Given the description of an element on the screen output the (x, y) to click on. 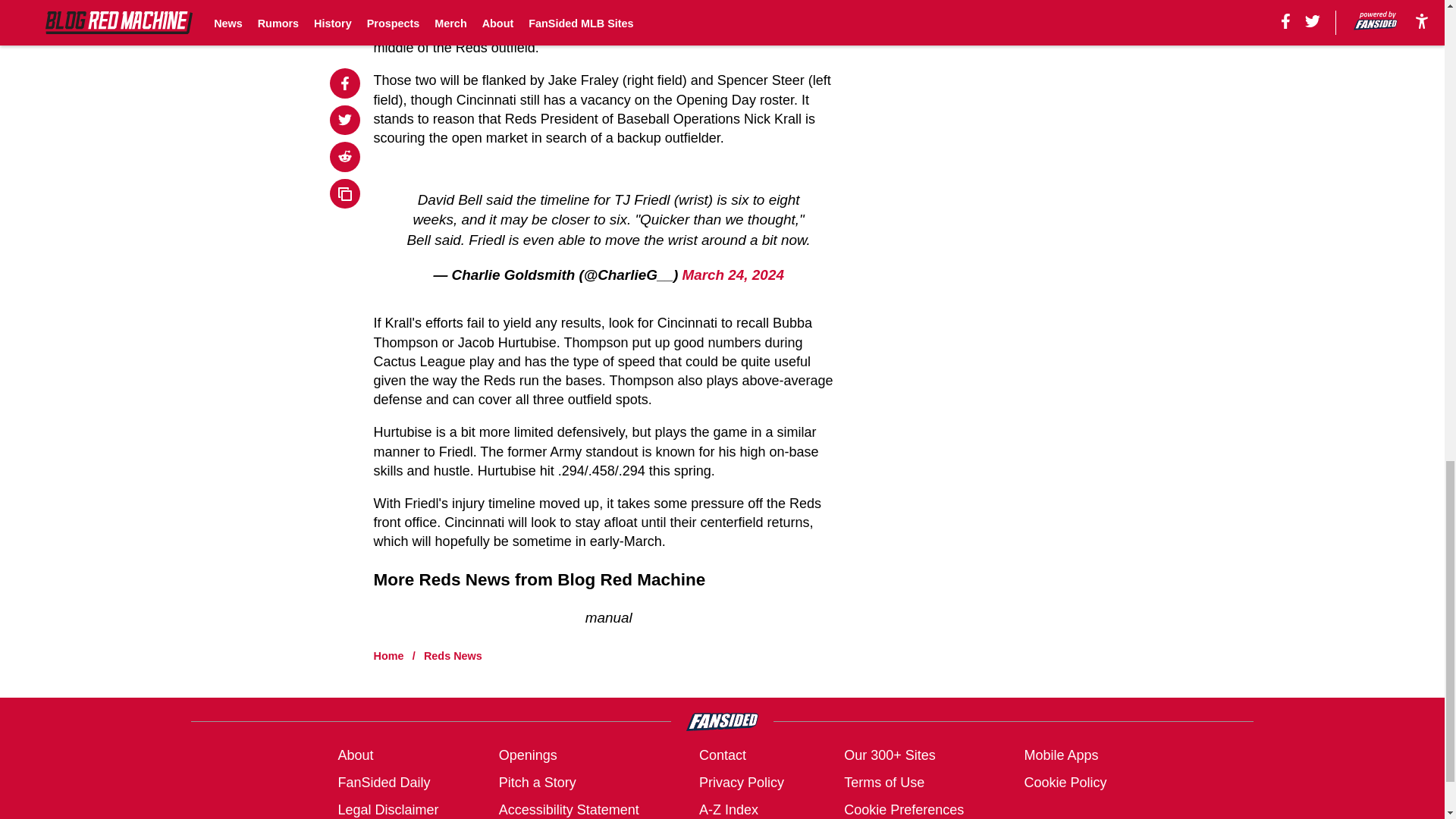
March 24, 2024 (732, 274)
About (354, 754)
Home (389, 655)
Openings (528, 754)
Reds News (452, 655)
Will Benson and Stuart Fairchild in center field (528, 9)
